Given the description of an element on the screen output the (x, y) to click on. 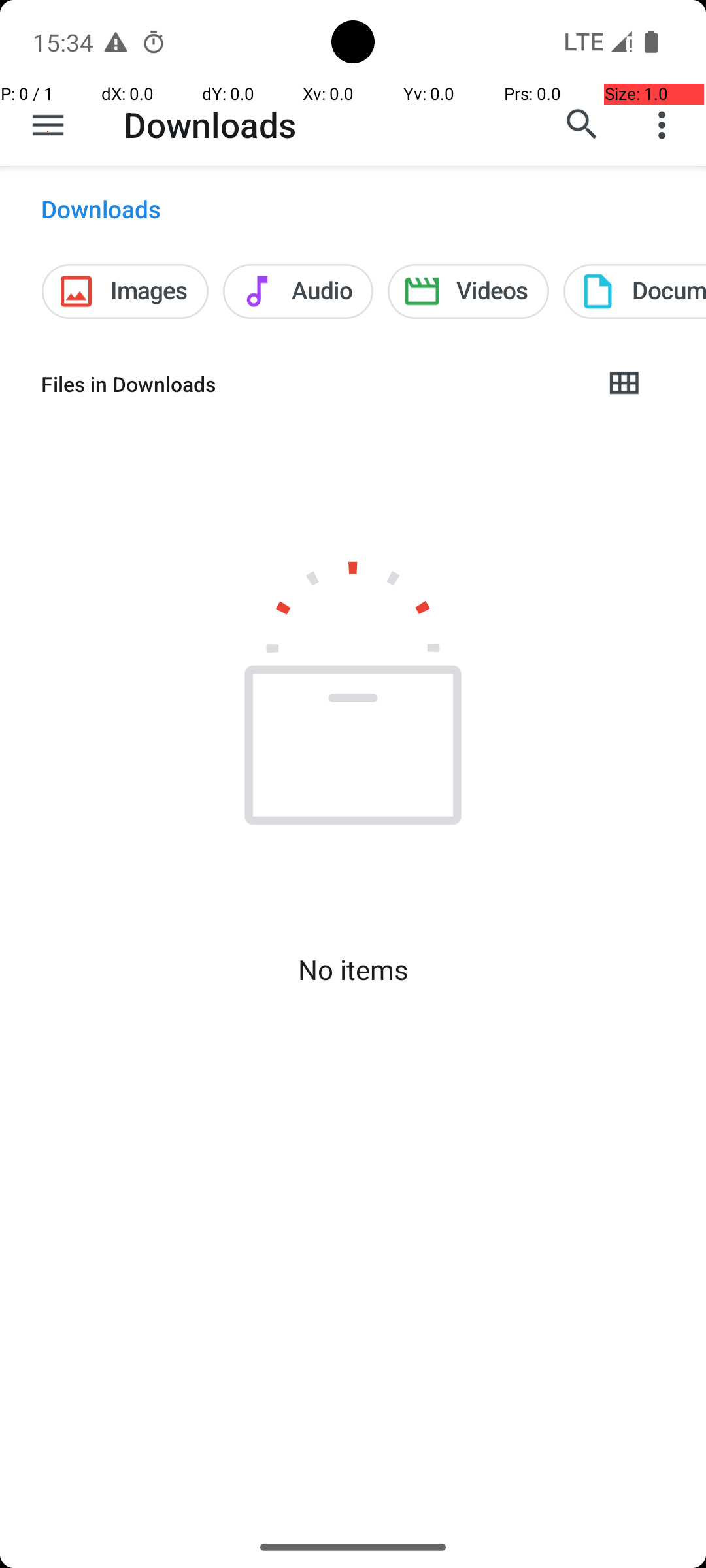
Grid view Element type: android.widget.TextView (622, 384)
